Given the description of an element on the screen output the (x, y) to click on. 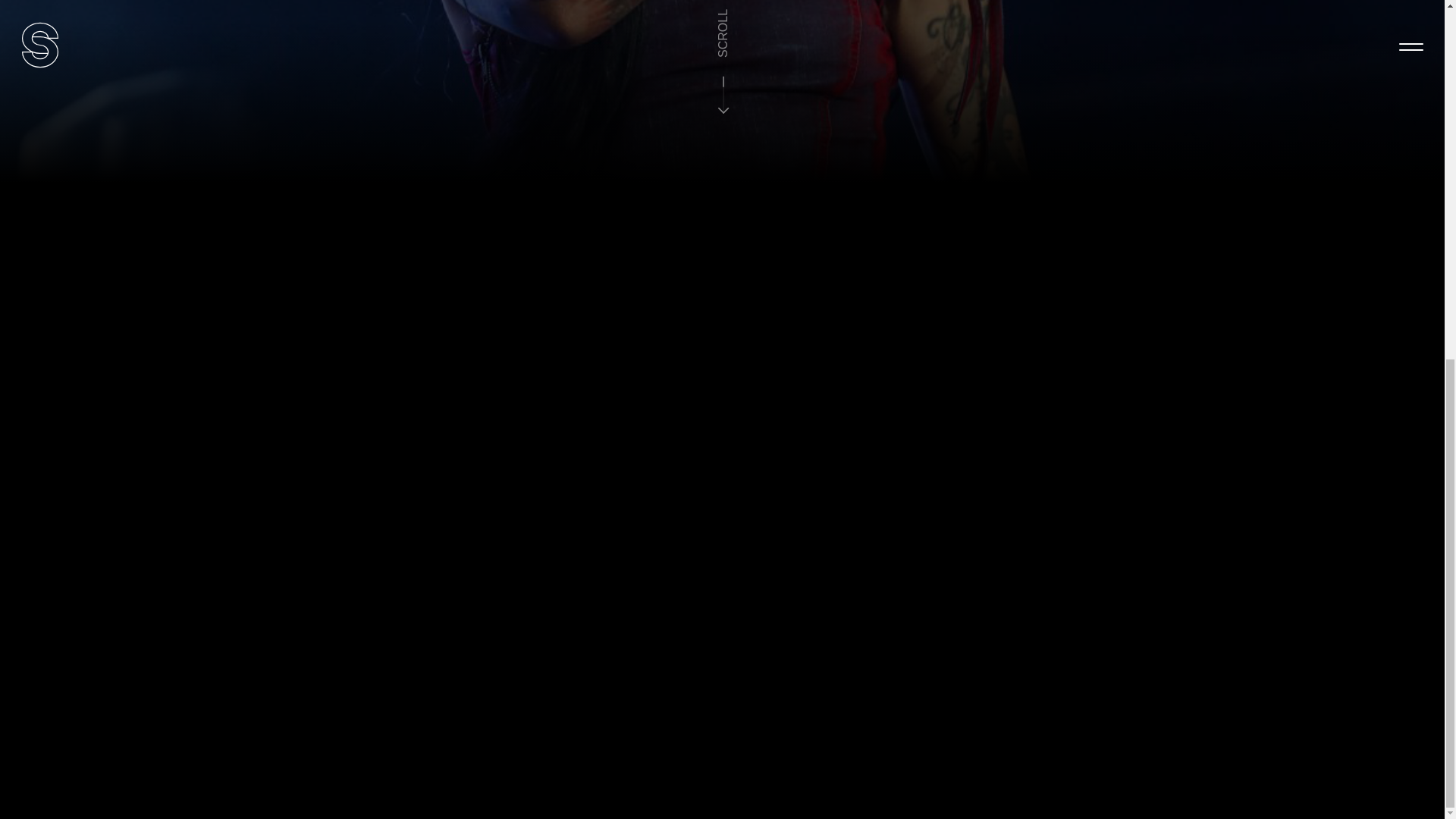
SCROLL (737, 19)
